Given the description of an element on the screen output the (x, y) to click on. 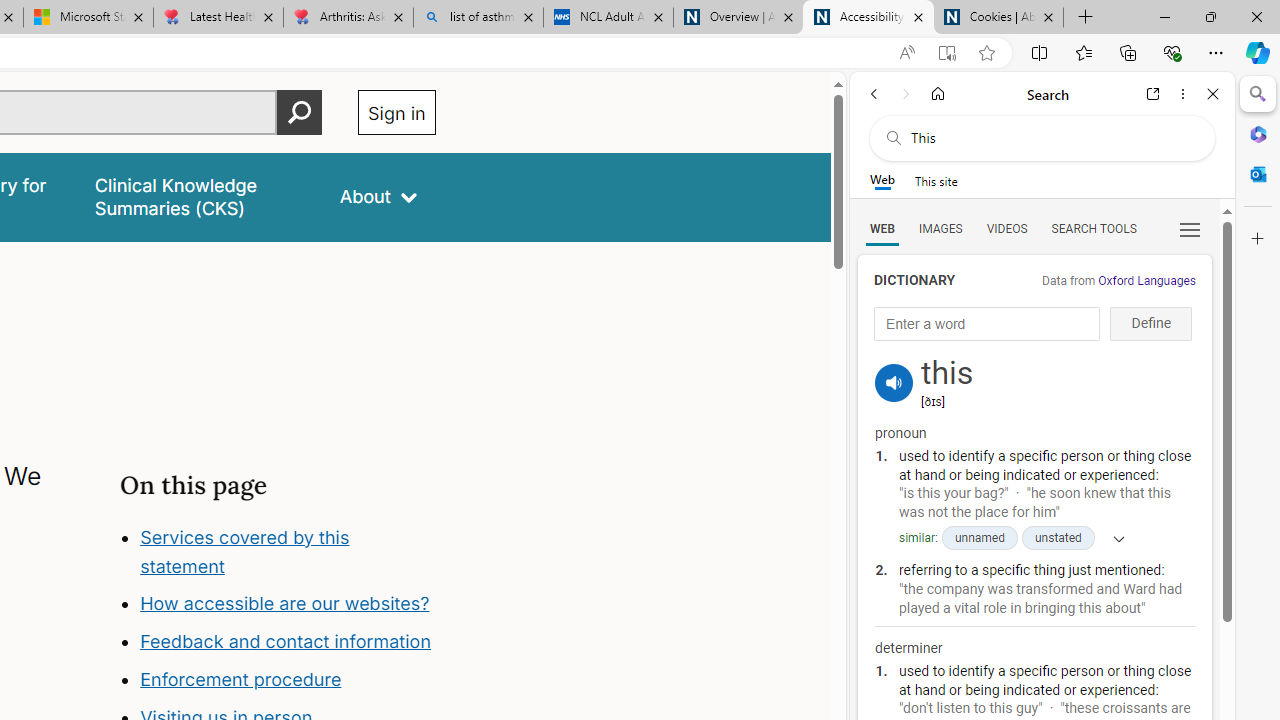
pronounce (893, 382)
Cookies | About | NICE (998, 17)
SEARCH TOOLS (1093, 228)
Show more (1112, 538)
